Given the description of an element on the screen output the (x, y) to click on. 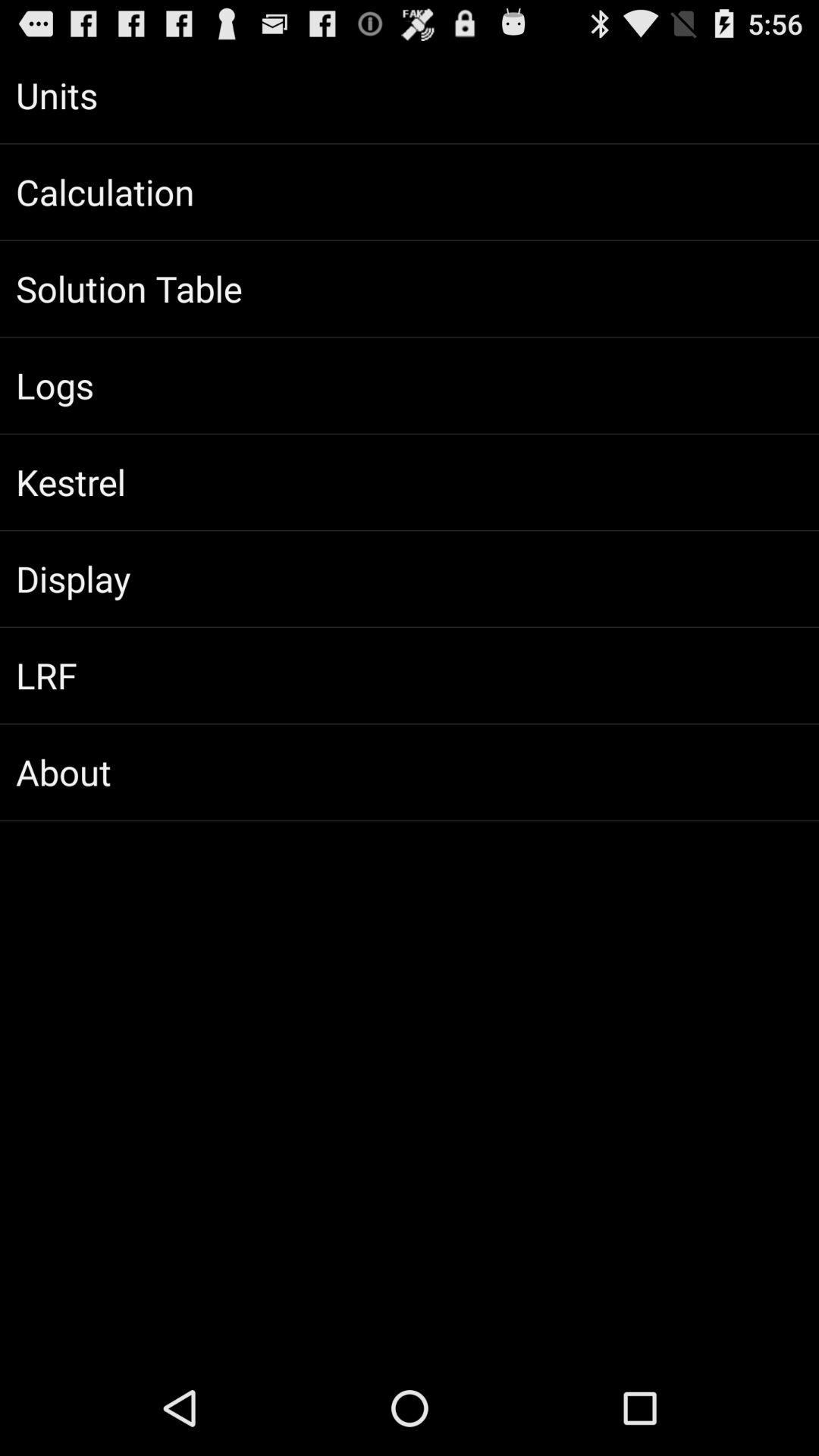
turn on the icon below the logs app (409, 482)
